Given the description of an element on the screen output the (x, y) to click on. 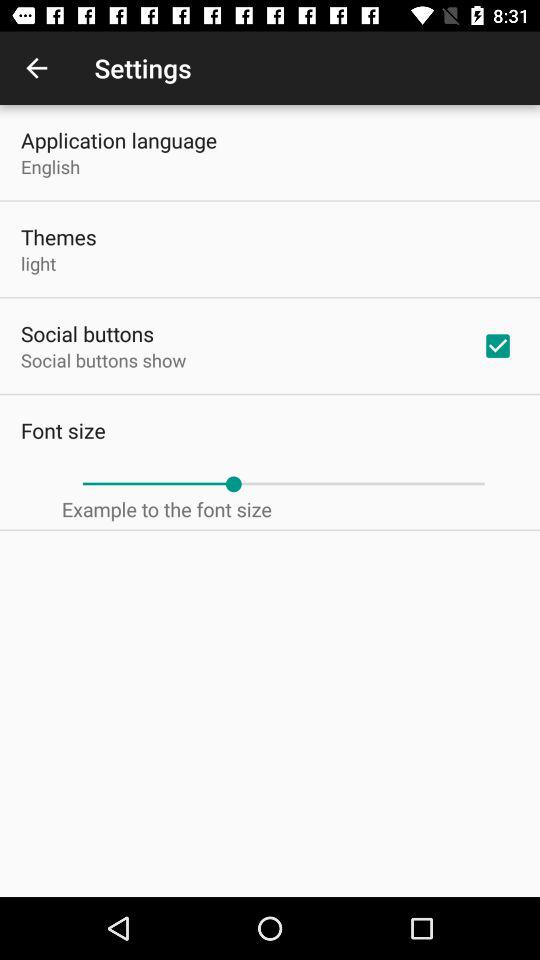
select icon below the application language item (50, 166)
